Given the description of an element on the screen output the (x, y) to click on. 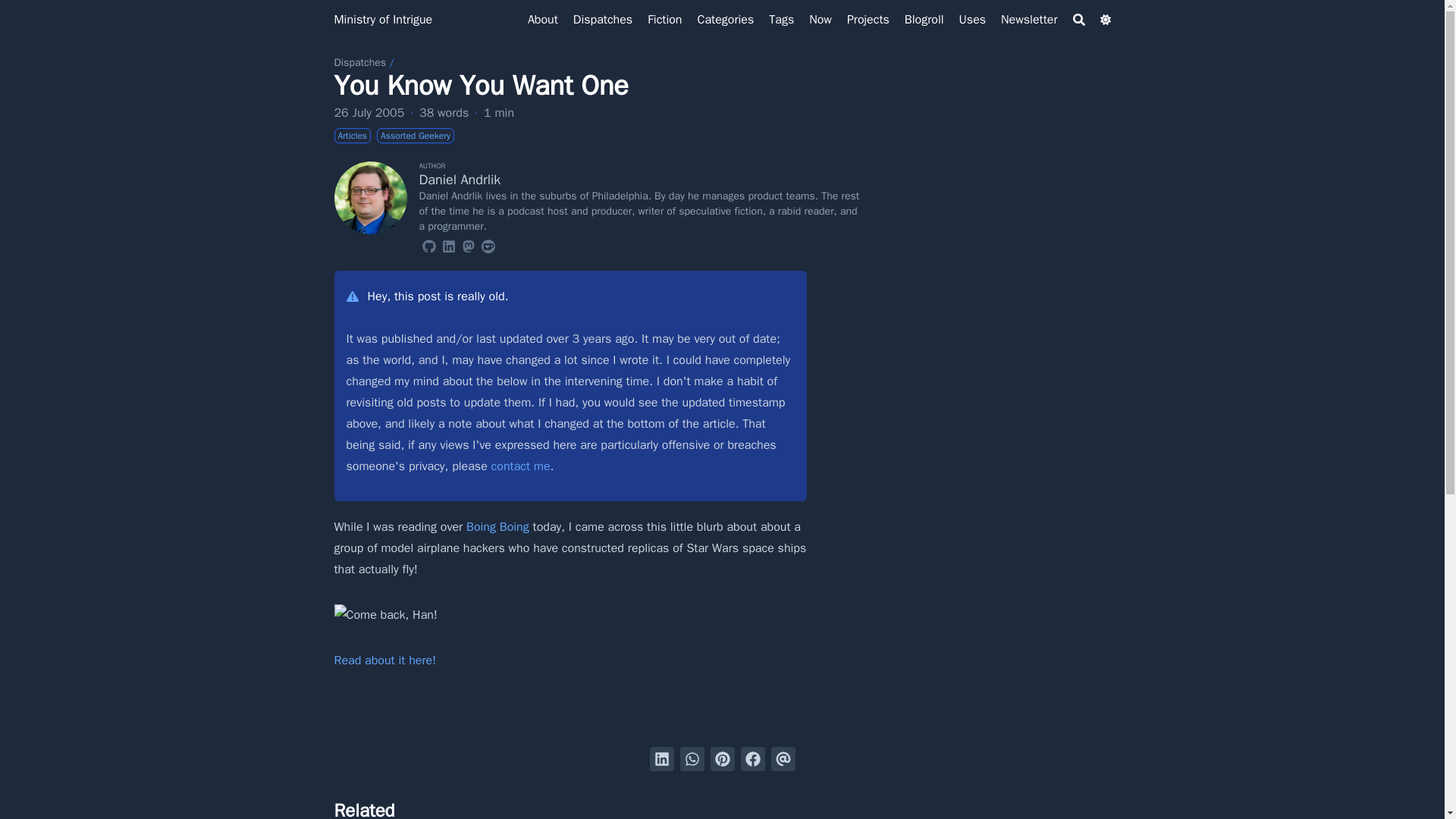
Now (820, 19)
contact me (521, 466)
Blogroll (923, 19)
Boing Boing (497, 526)
Read about it here! (384, 660)
Dispatches (602, 19)
Tags (780, 19)
Daniel Andrlik (459, 179)
Fiction (664, 19)
Ministry of Intrigue (382, 19)
